Given the description of an element on the screen output the (x, y) to click on. 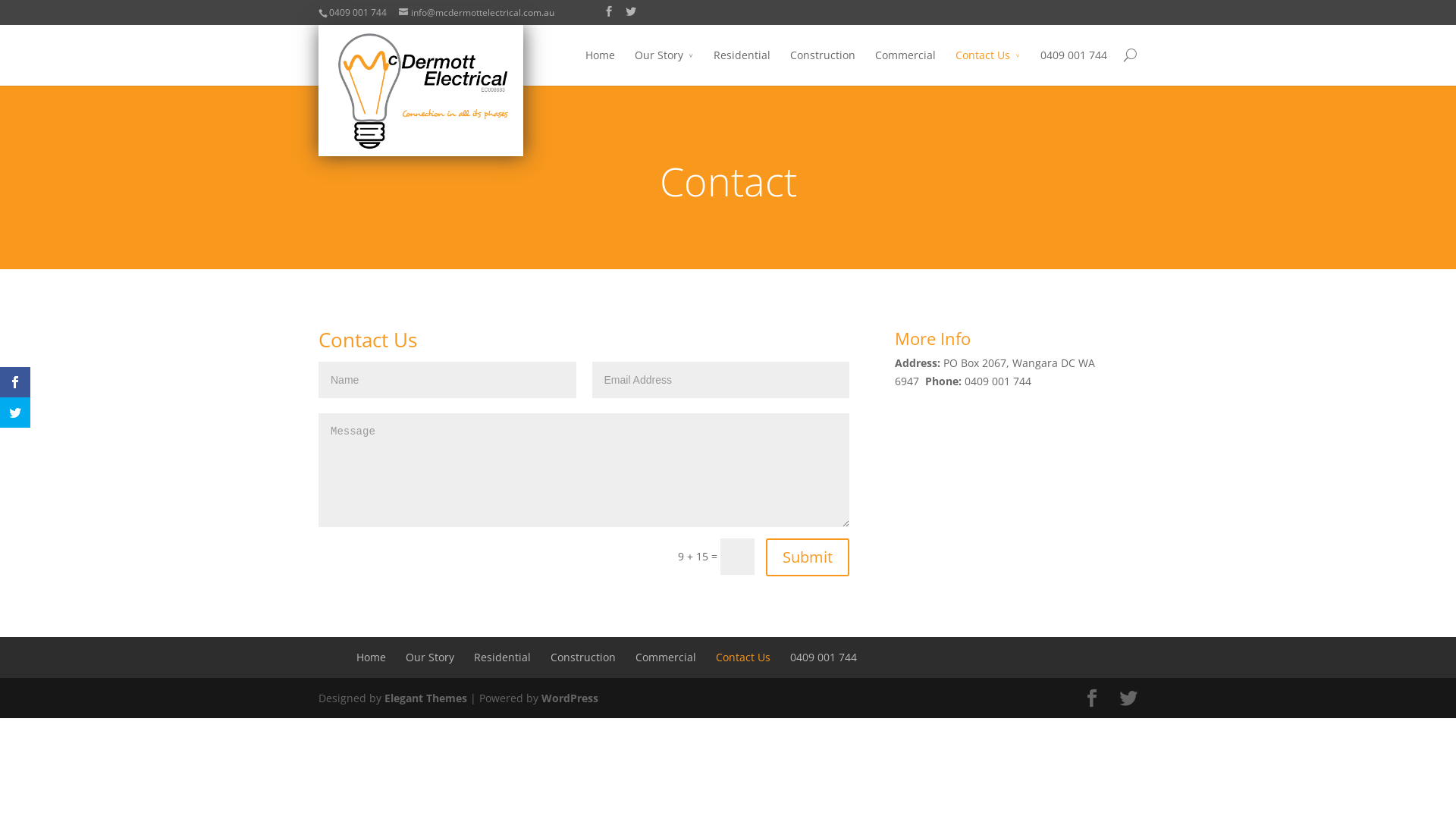
Elegant Themes Element type: text (425, 697)
Submit Element type: text (807, 557)
Construction Element type: text (582, 656)
Contact Us Element type: text (742, 656)
Residential Element type: text (501, 656)
Commercial Element type: text (665, 656)
0409 001 744 Element type: text (1073, 65)
Contact Us Element type: text (987, 65)
info@mcdermottelectrical.com.au Element type: text (476, 12)
Our Story Element type: text (663, 65)
Commercial Element type: text (905, 65)
0409 001 744 Element type: text (823, 656)
Home Element type: text (370, 656)
Home Element type: text (600, 65)
Construction Element type: text (822, 65)
Residential Element type: text (741, 65)
WordPress Element type: text (569, 697)
Our Story Element type: text (429, 656)
